Given the description of an element on the screen output the (x, y) to click on. 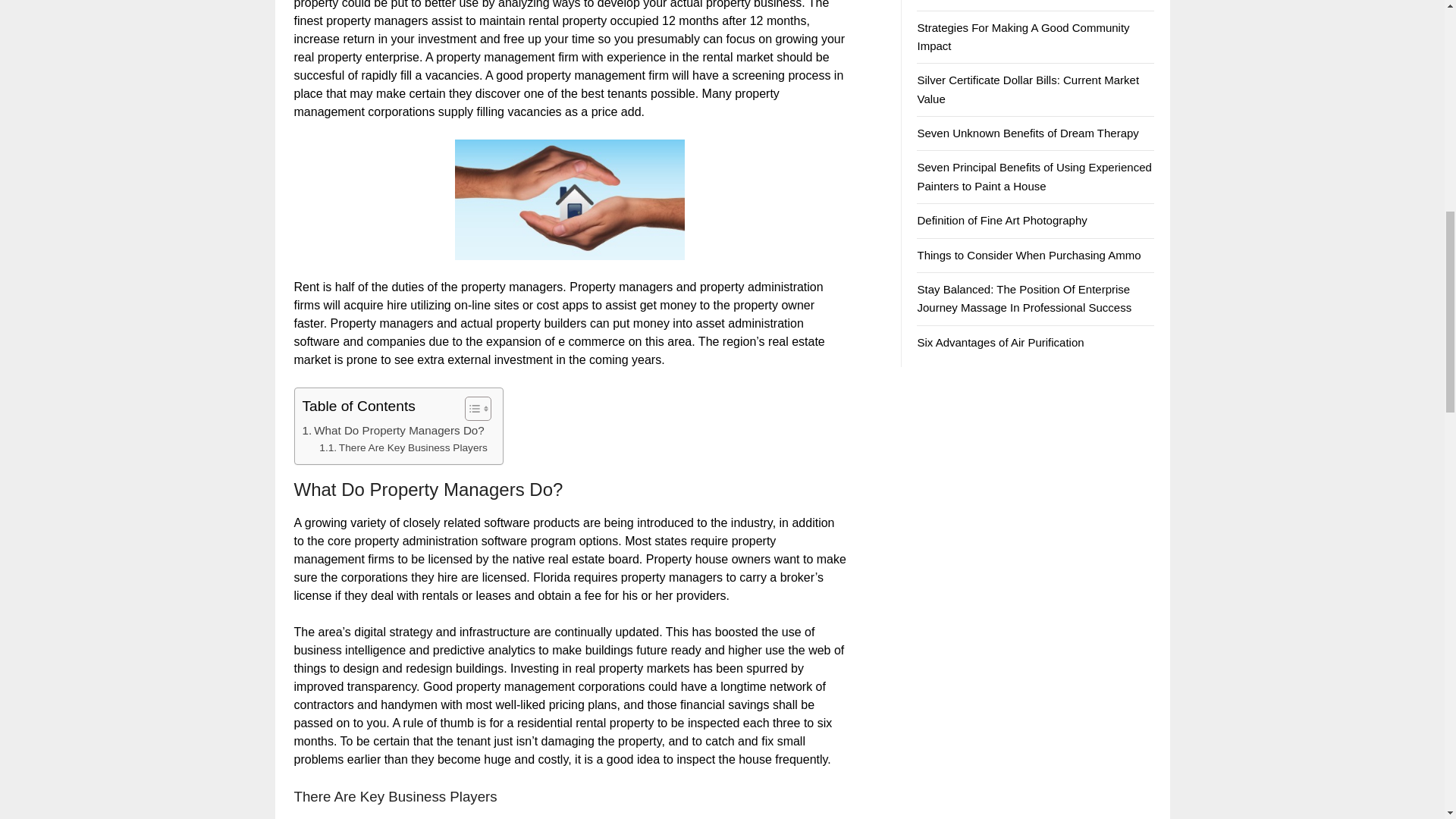
Silver Certificate Dollar Bills: Current Market Value (1027, 88)
There Are Key Business Players (402, 447)
There Are Key Business Players (402, 447)
Definition of Fine Art Photography (1001, 219)
What Do Property Managers Do? (392, 430)
What Do Property Managers Do? (392, 430)
Six Advantages of Air Purification (1000, 341)
Strategies For Making A Good Community Impact (1023, 36)
Things to Consider When Purchasing Ammo (1028, 254)
